Given the description of an element on the screen output the (x, y) to click on. 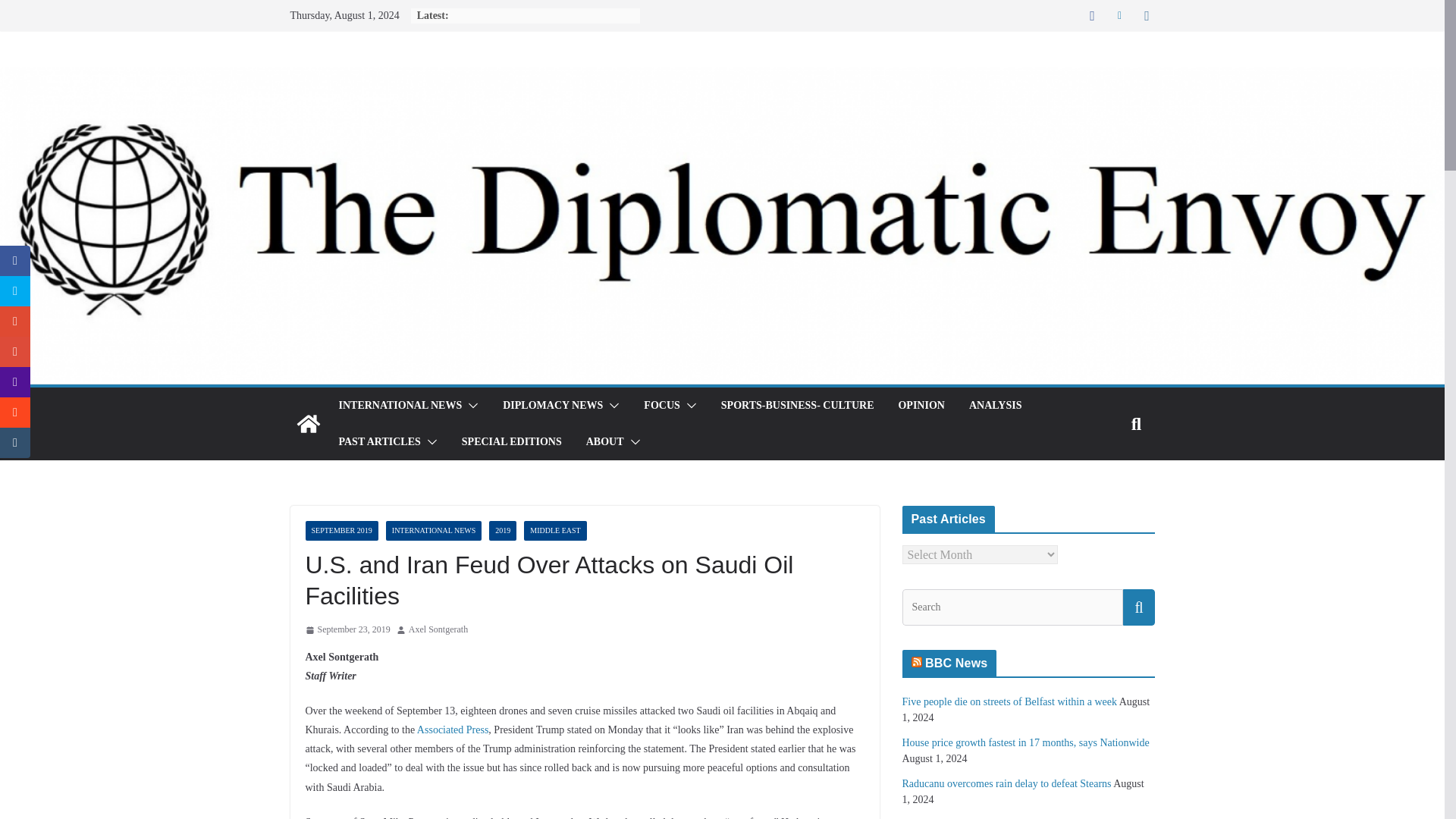
8:00 AM (347, 629)
Axel Sontgerath (438, 629)
DIPLOMACY NEWS (552, 405)
The Diplomatic Envoy (307, 423)
INTERNATIONAL NEWS (399, 405)
FOCUS (661, 405)
